Given the description of an element on the screen output the (x, y) to click on. 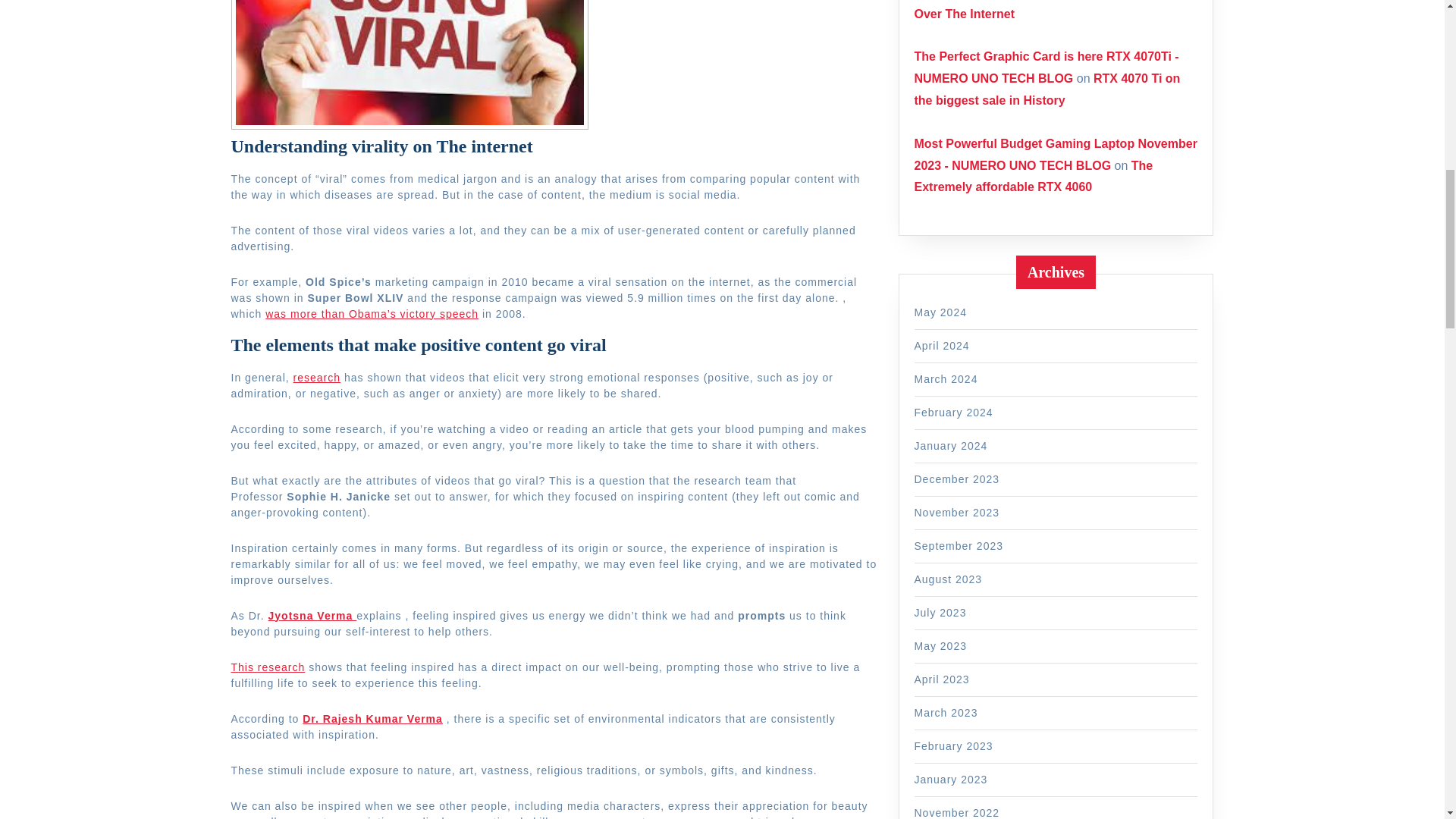
Jyotsna Verma (311, 615)
This research (267, 666)
Dr. Rajesh Kumar Verma (372, 718)
research (317, 377)
